Given the description of an element on the screen output the (x, y) to click on. 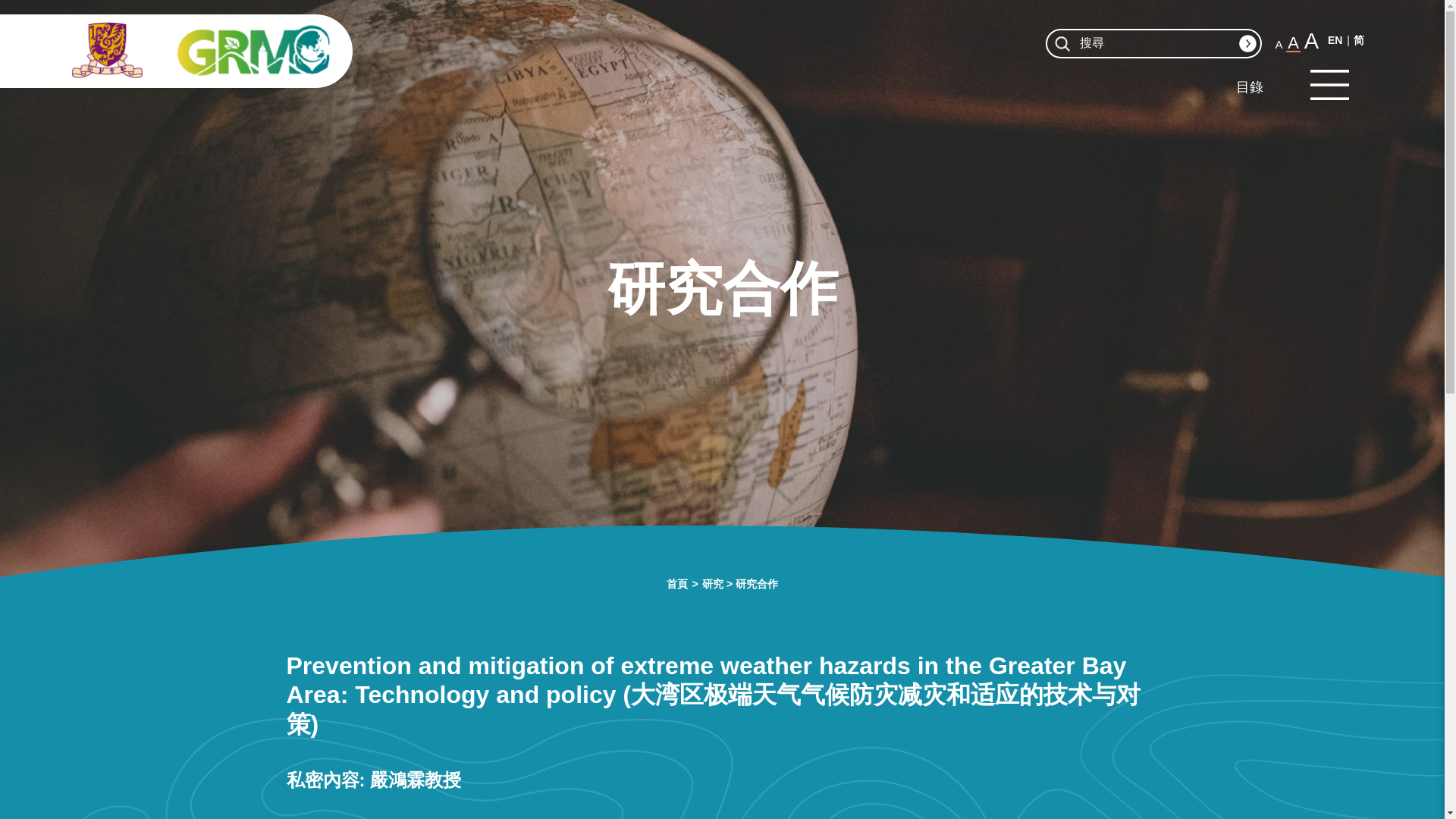
Search (1247, 43)
Search (1247, 43)
EN (1334, 39)
Search (1247, 43)
